Given the description of an element on the screen output the (x, y) to click on. 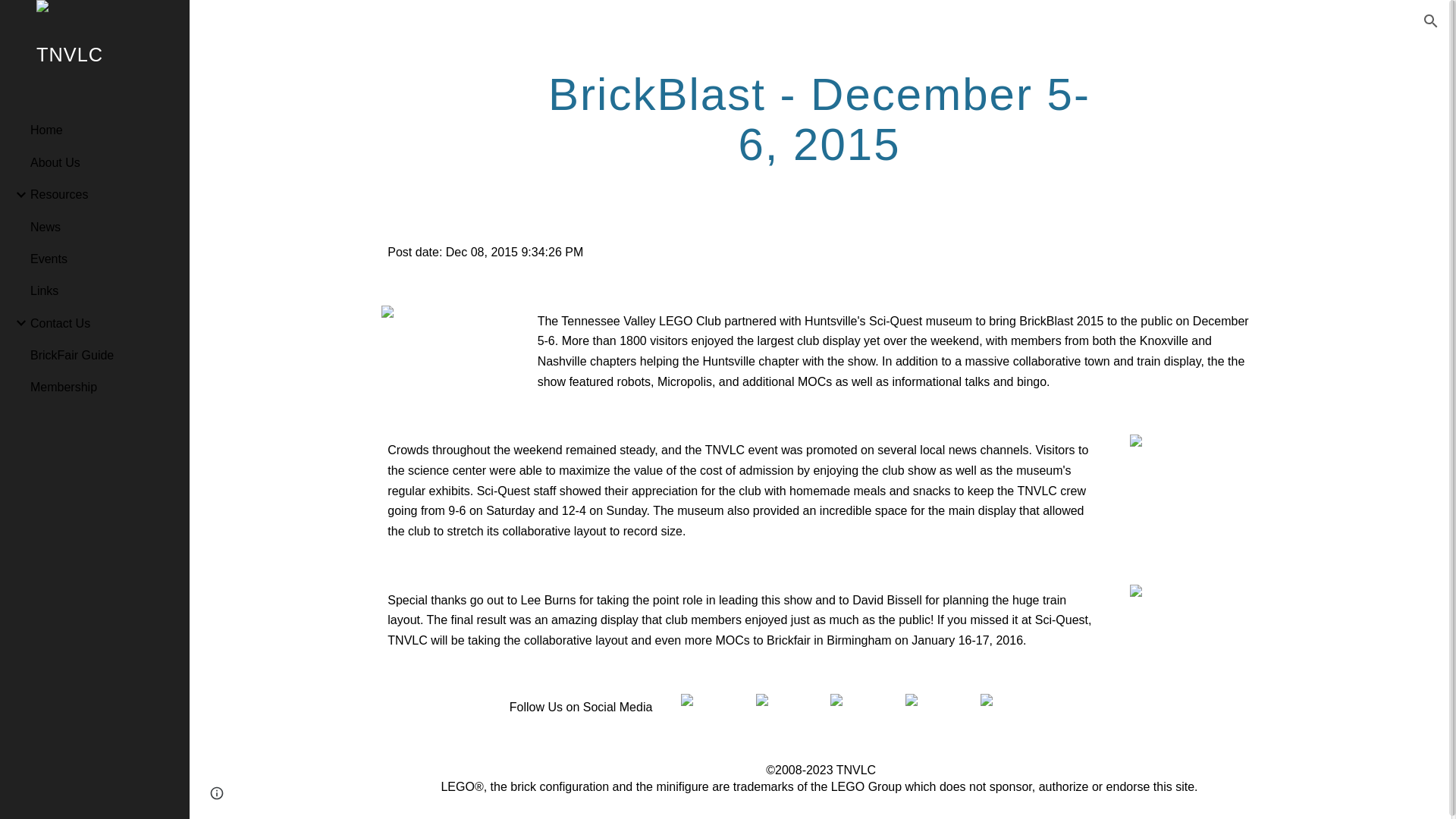
Resources (103, 194)
Home (103, 130)
TNVLC (94, 73)
About Us (103, 162)
